Given the description of an element on the screen output the (x, y) to click on. 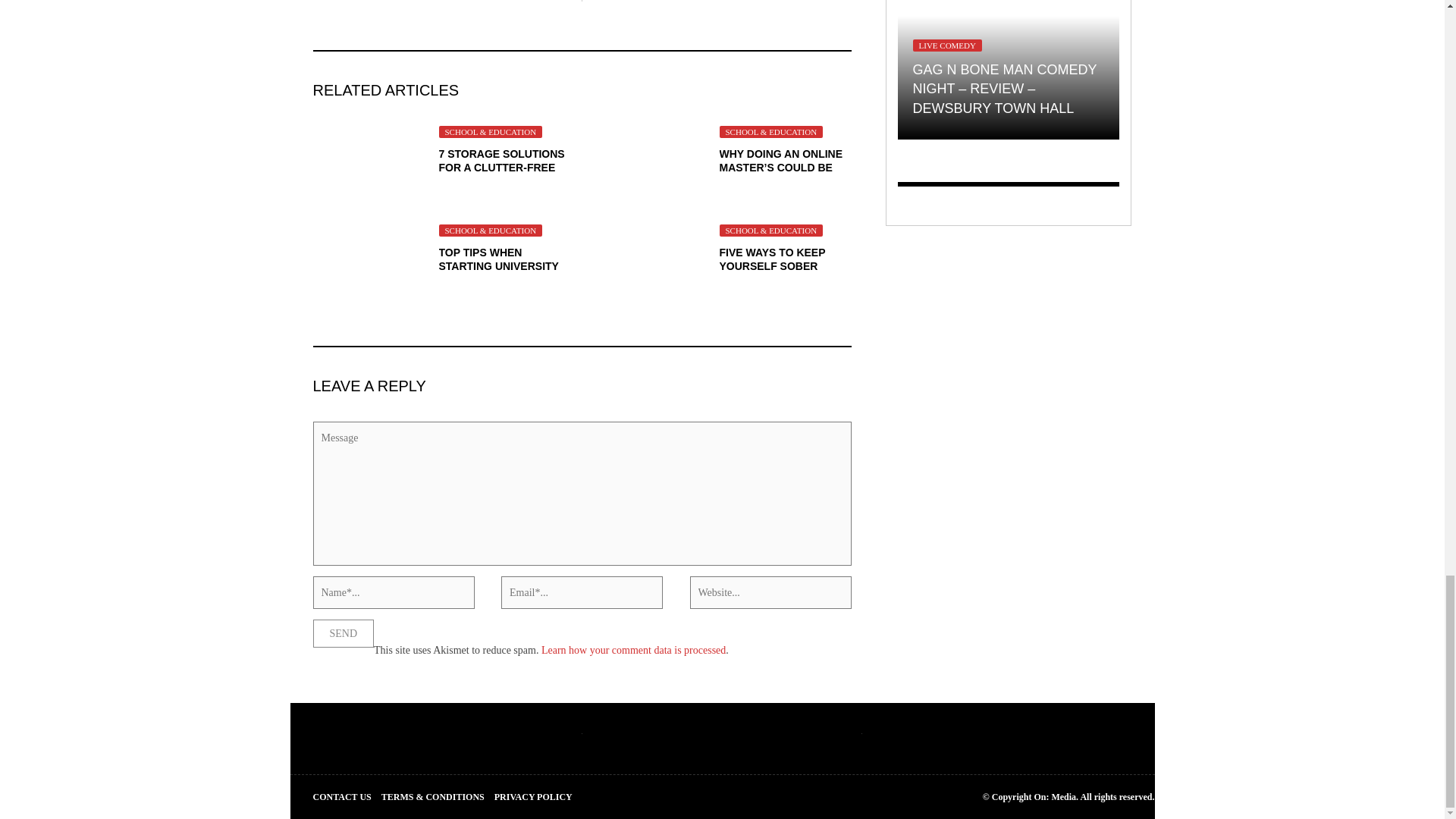
Send (343, 633)
